Given the description of an element on the screen output the (x, y) to click on. 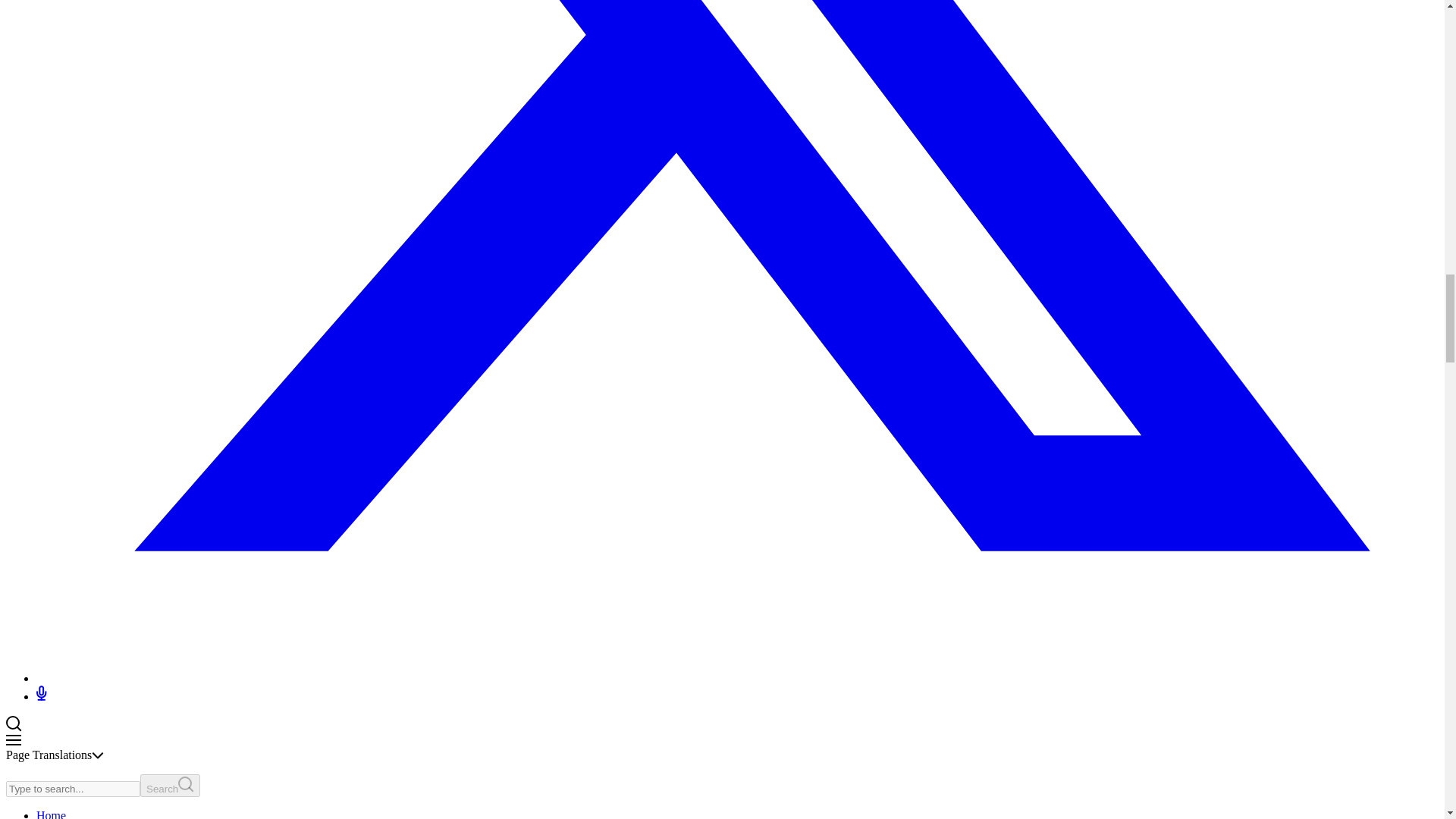
Page Translations (54, 754)
Home (50, 814)
Search (169, 784)
